Given the description of an element on the screen output the (x, y) to click on. 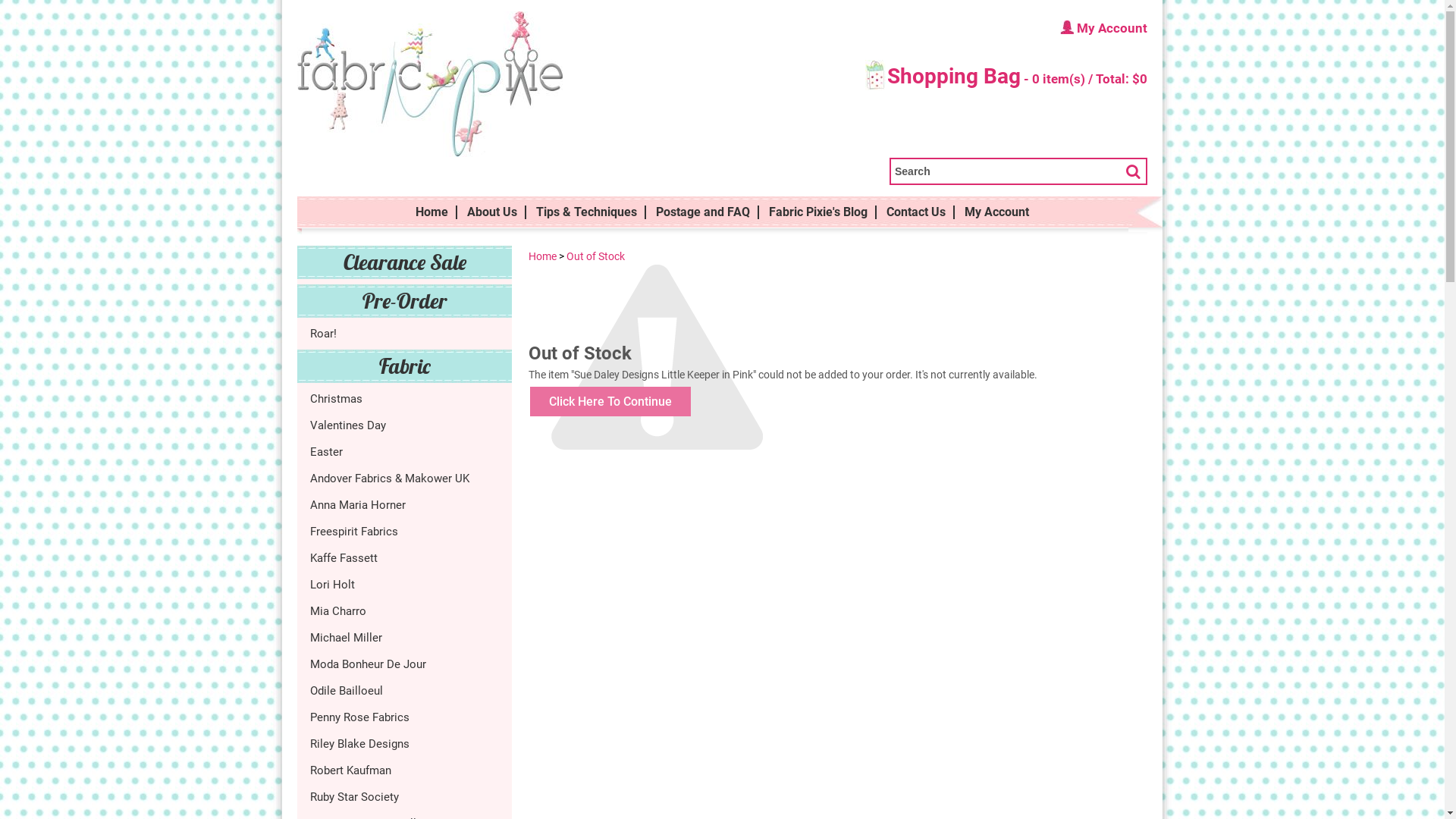
About Us Element type: text (491, 212)
Home Element type: text (431, 212)
Ruby Star Society Element type: text (404, 795)
Out of Stock Element type: text (595, 256)
Anna Maria Horner Element type: text (404, 504)
Home Element type: text (542, 256)
Andover Fabrics & Makower UK Element type: text (404, 477)
Odile Bailloeul Element type: text (404, 689)
Freespirit Fabrics Element type: text (404, 530)
Shopping Bag - 0 item(s) / Total: $0 Element type: text (1006, 77)
Fabric Element type: text (404, 365)
Valentines Day Element type: text (404, 424)
Clearance Sale Element type: text (404, 262)
Mia Charro Element type: text (404, 610)
Robert Kaufman Element type: text (404, 770)
Click here to continue Element type: text (610, 401)
My Account Element type: text (1006, 26)
Kaffe Fassett Element type: text (404, 557)
Postage and FAQ Element type: text (702, 212)
My Account Element type: text (996, 212)
Moda Bonheur De Jour Element type: text (404, 663)
Michael Miller Element type: text (404, 636)
Roar! Element type: text (404, 333)
Pre-Order Element type: text (404, 299)
Tips & Techniques Element type: text (586, 212)
Penny Rose Fabrics Element type: text (404, 717)
Easter Element type: text (404, 451)
Riley Blake Designs Element type: text (404, 742)
Christmas Element type: text (404, 398)
Lori Holt Element type: text (404, 583)
Contact Us Element type: text (915, 212)
Fabric Pixie's Blog Element type: text (818, 212)
